Given the description of an element on the screen output the (x, y) to click on. 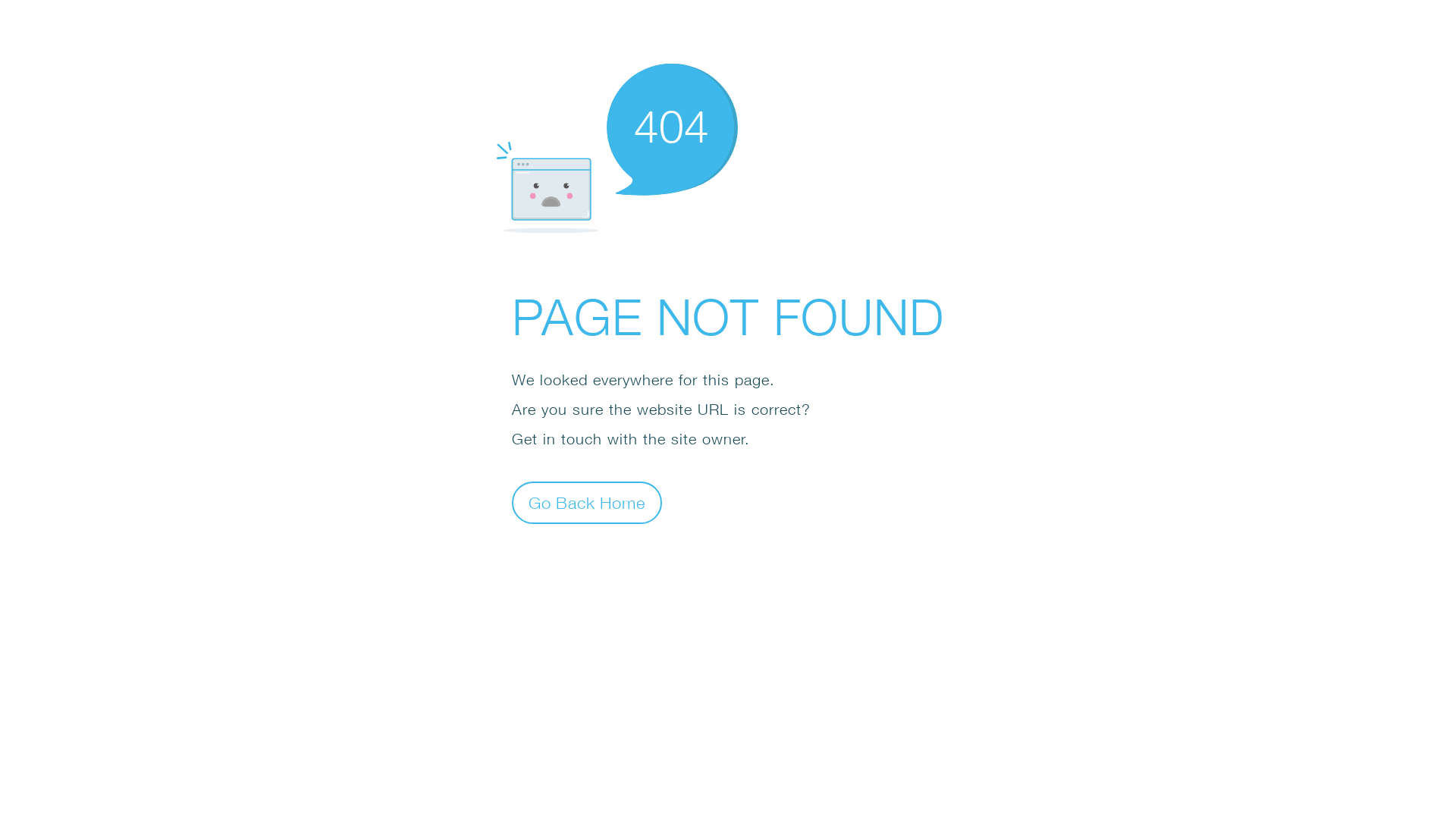
Go Back Home Element type: text (586, 502)
